Given the description of an element on the screen output the (x, y) to click on. 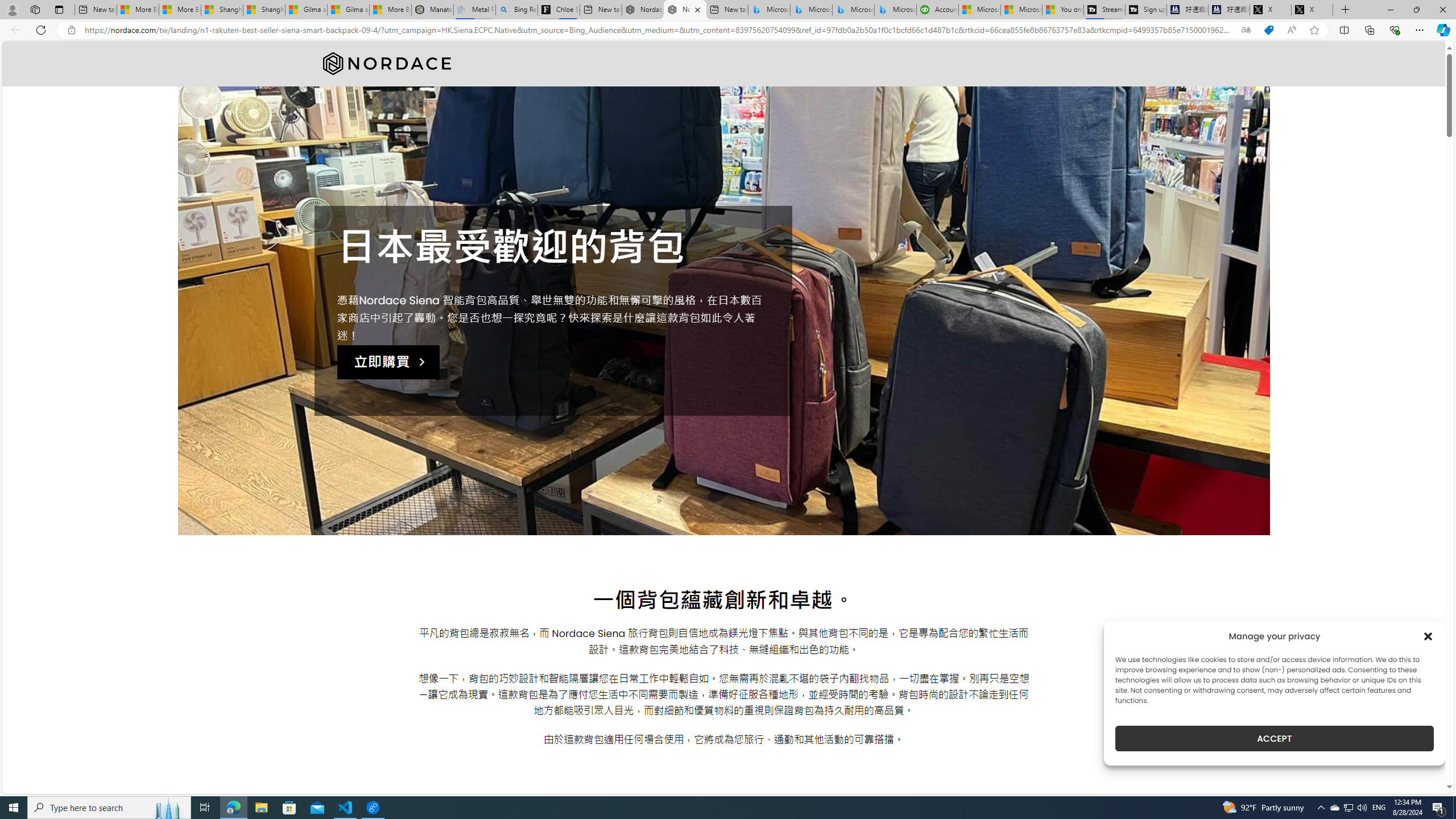
Close tab (697, 9)
Bing Real Estate - Home sales and rental listings (516, 9)
Minimize (1390, 9)
Refresh (40, 29)
Microsoft Bing Travel - Stays in Bangkok, Bangkok, Thailand (810, 9)
Gilma and Hector both pose tropical trouble for Hawaii (347, 9)
Show translate options (1245, 29)
Chloe Sorvino (558, 9)
Streaming Coverage | T3 (1103, 9)
Class: cmplz-close (1428, 636)
Close (1442, 9)
Settings and more (Alt+F) (1419, 29)
New Tab (1346, 9)
